Given the description of an element on the screen output the (x, y) to click on. 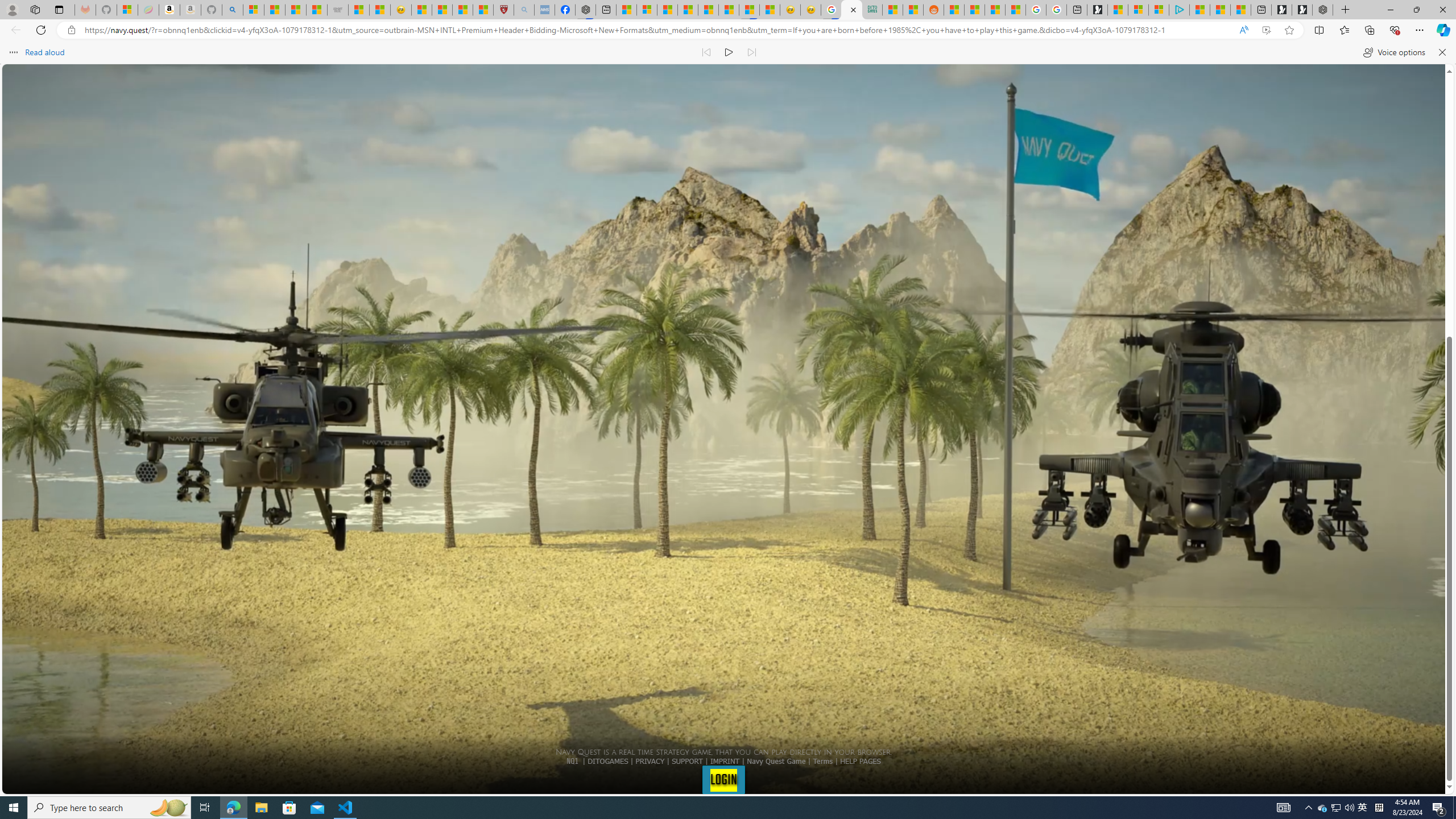
Read next paragraph (750, 52)
Navy Quest Game (776, 760)
HELP PAGES (860, 760)
Read previous paragraph (705, 52)
IMPRINT (724, 760)
